Given the description of an element on the screen output the (x, y) to click on. 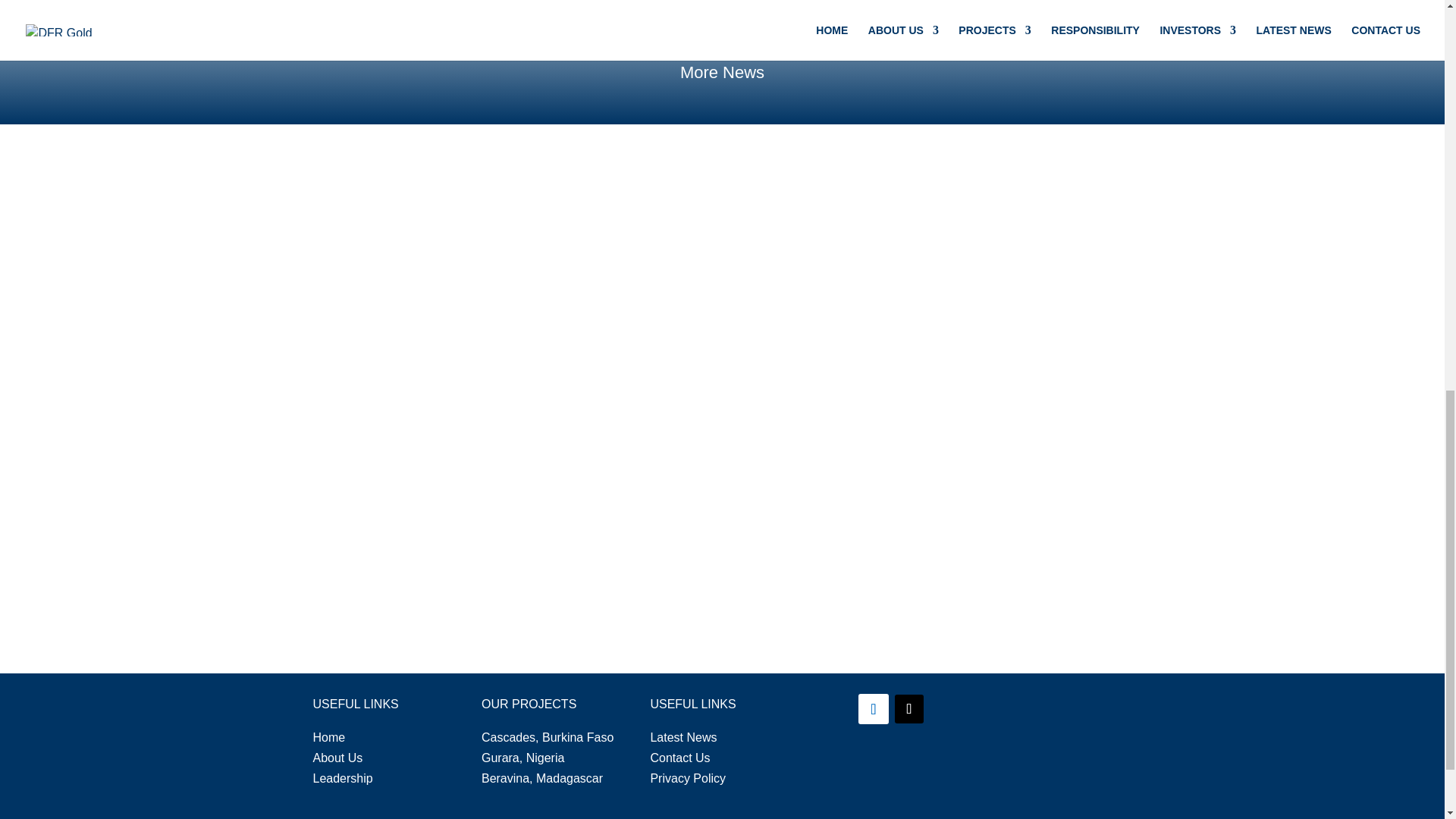
Follow on X (909, 708)
cropped-A-new-West-African-Gold-Explorer-Diamond-Fields.png (1059, 762)
Contact Us (679, 757)
About Us (337, 757)
Home (329, 737)
Follow on LinkedIn (873, 708)
Latest News (682, 737)
Leadership (342, 778)
Privacy Policy (687, 778)
Cascades, Burkina Faso (546, 737)
Beravina, Madagascar (541, 778)
Gurara, Nigeria (522, 757)
